Given the description of an element on the screen output the (x, y) to click on. 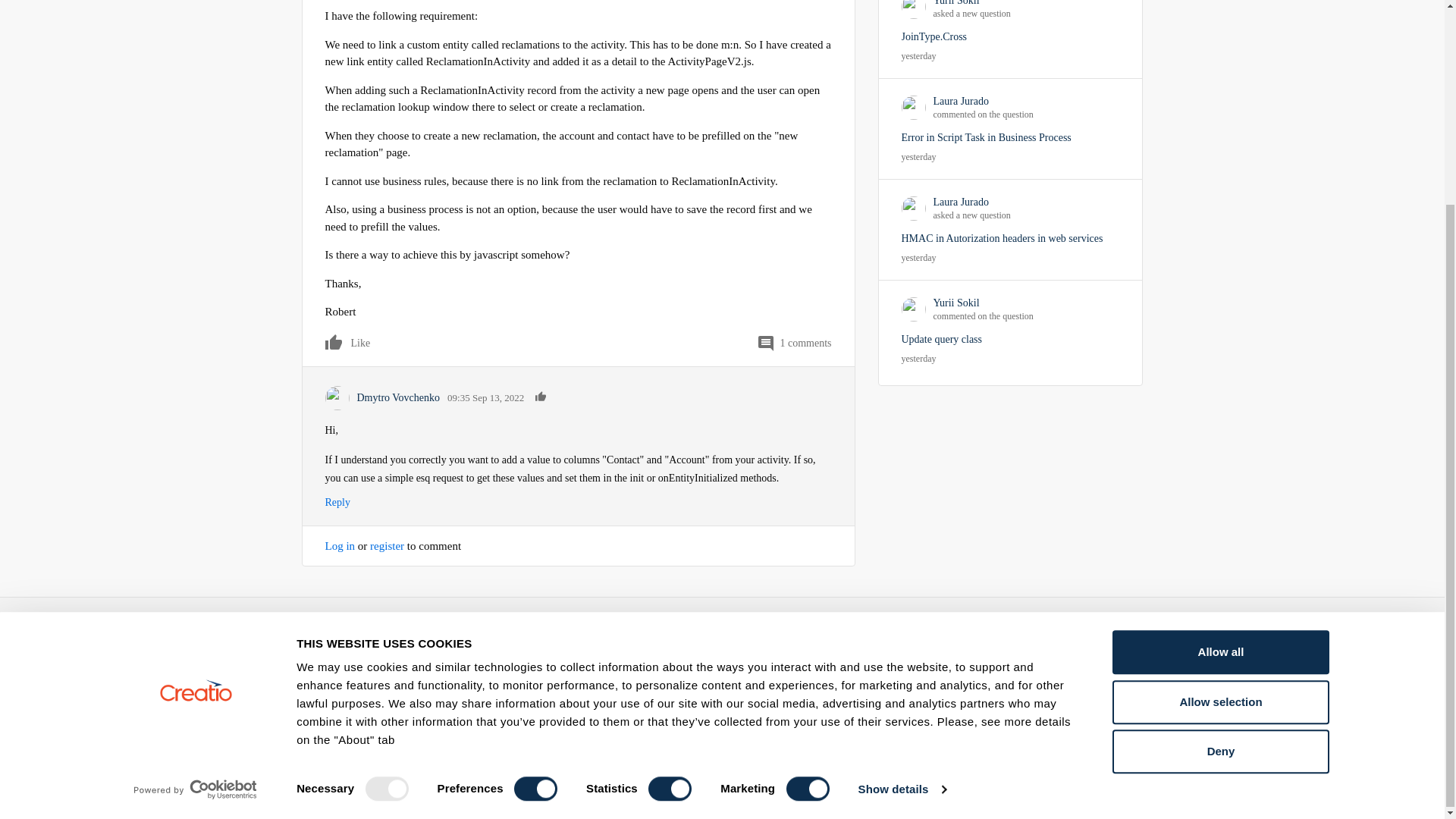
Show details (900, 526)
